Given the description of an element on the screen output the (x, y) to click on. 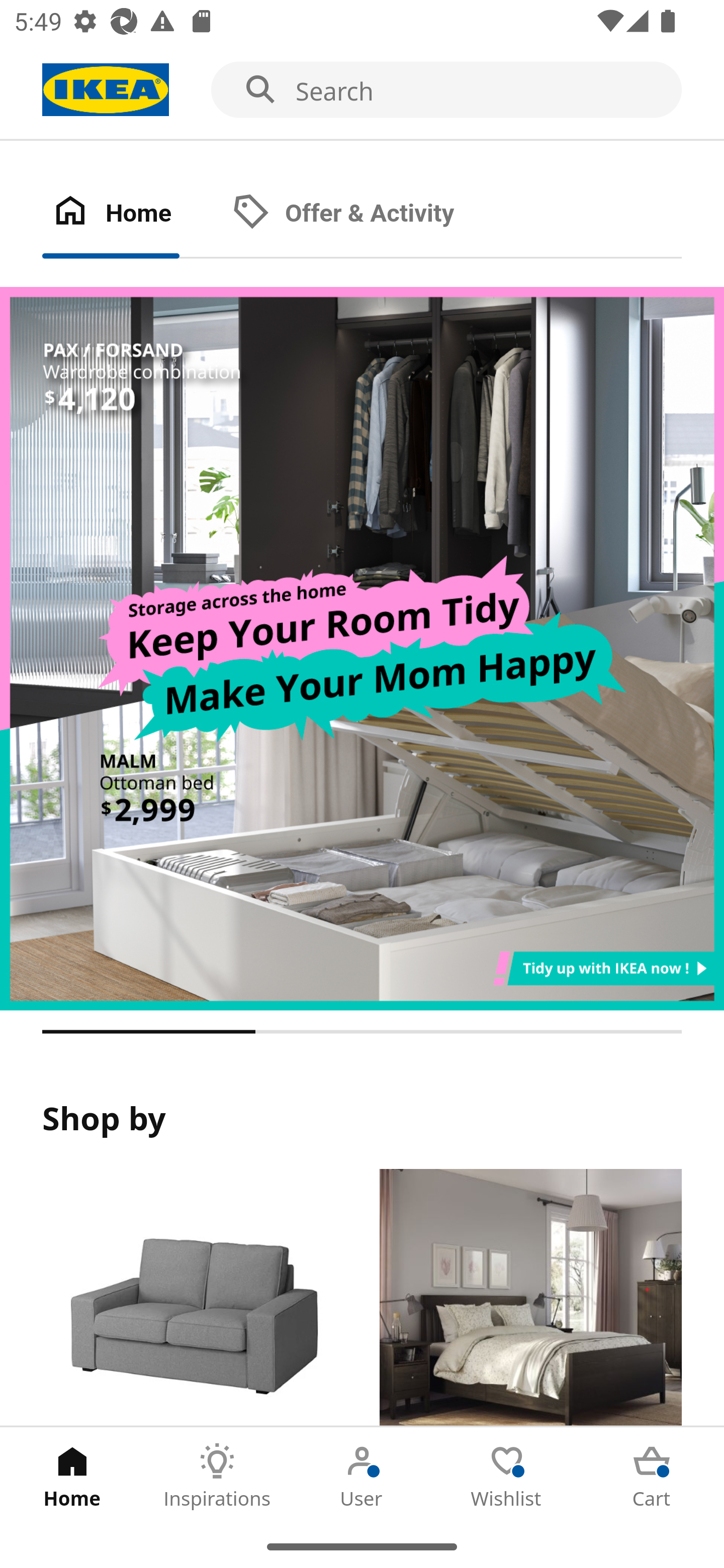
Search (361, 90)
Home
Tab 1 of 2 (131, 213)
Offer & Activity
Tab 2 of 2 (363, 213)
Products (192, 1297)
Rooms (530, 1297)
Home
Tab 1 of 5 (72, 1476)
Inspirations
Tab 2 of 5 (216, 1476)
User
Tab 3 of 5 (361, 1476)
Wishlist
Tab 4 of 5 (506, 1476)
Cart
Tab 5 of 5 (651, 1476)
